Given the description of an element on the screen output the (x, y) to click on. 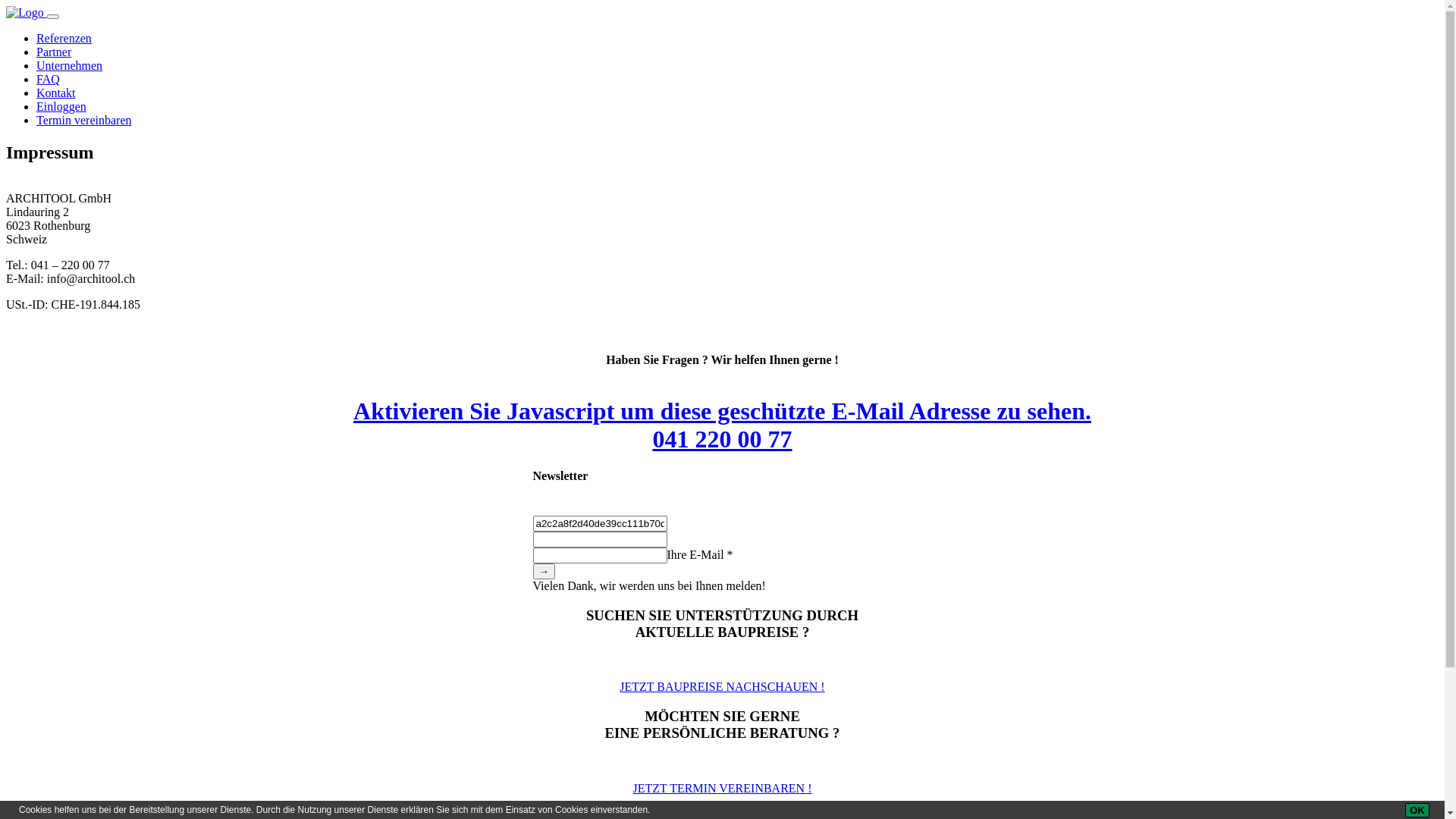
Referenzen Element type: text (63, 37)
JETZT TERMIN VEREINBAREN ! Element type: text (721, 787)
Partner Element type: text (53, 51)
JETZT BAUPREISE NACHSCHAUEN ! Element type: text (721, 686)
Termin vereinbaren Element type: text (83, 119)
Kontakt Element type: text (55, 92)
Unternehmen Element type: text (69, 65)
Einloggen Element type: text (61, 106)
041 220 00 77 Element type: text (721, 438)
FAQ Element type: text (47, 78)
